Given the description of an element on the screen output the (x, y) to click on. 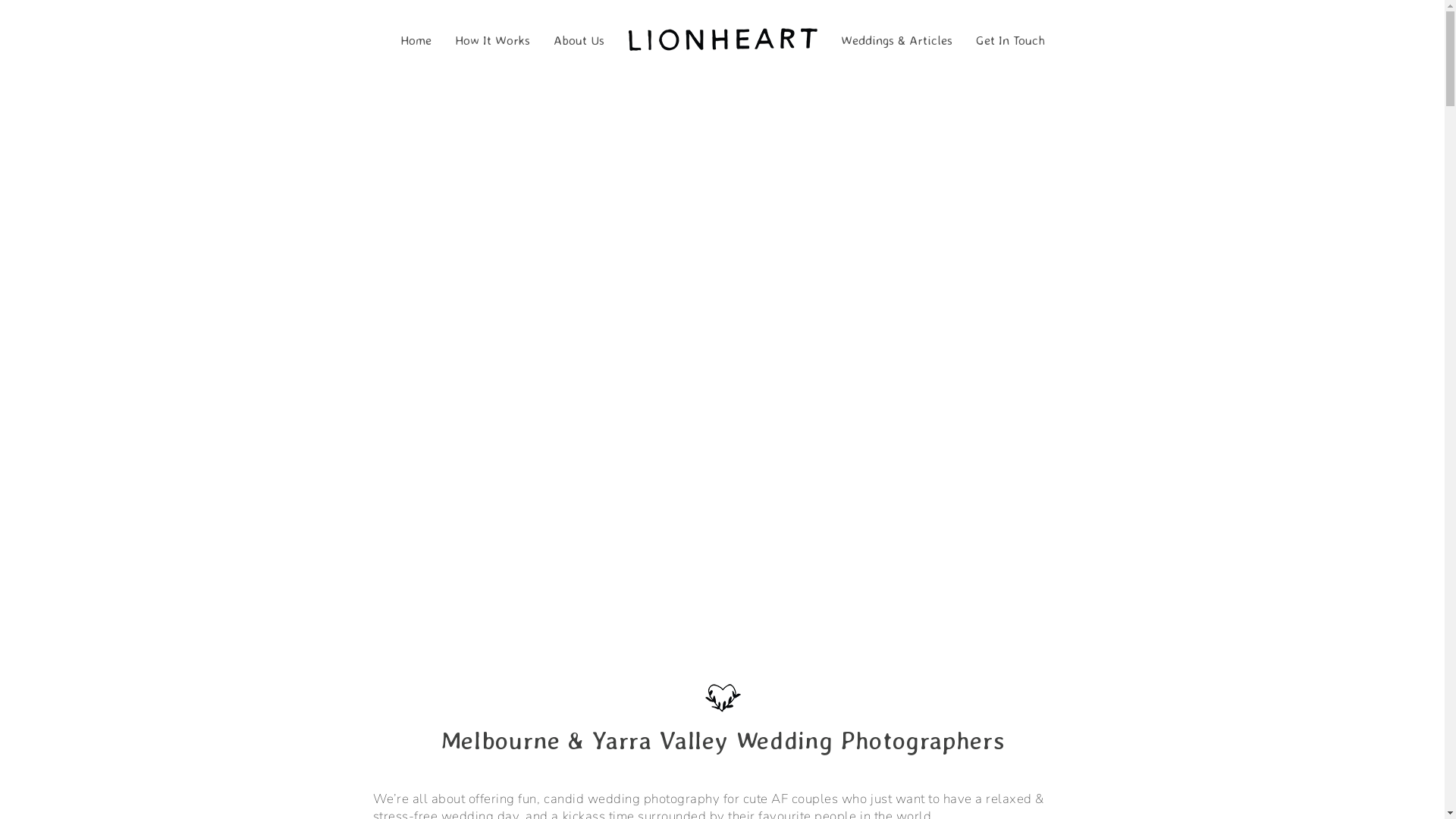
About Us Element type: text (578, 37)
Weddings & Articles Element type: text (896, 37)
Get In Touch Element type: text (1010, 37)
Home Element type: text (415, 37)
How It Works Element type: text (491, 37)
